Given the description of an element on the screen output the (x, y) to click on. 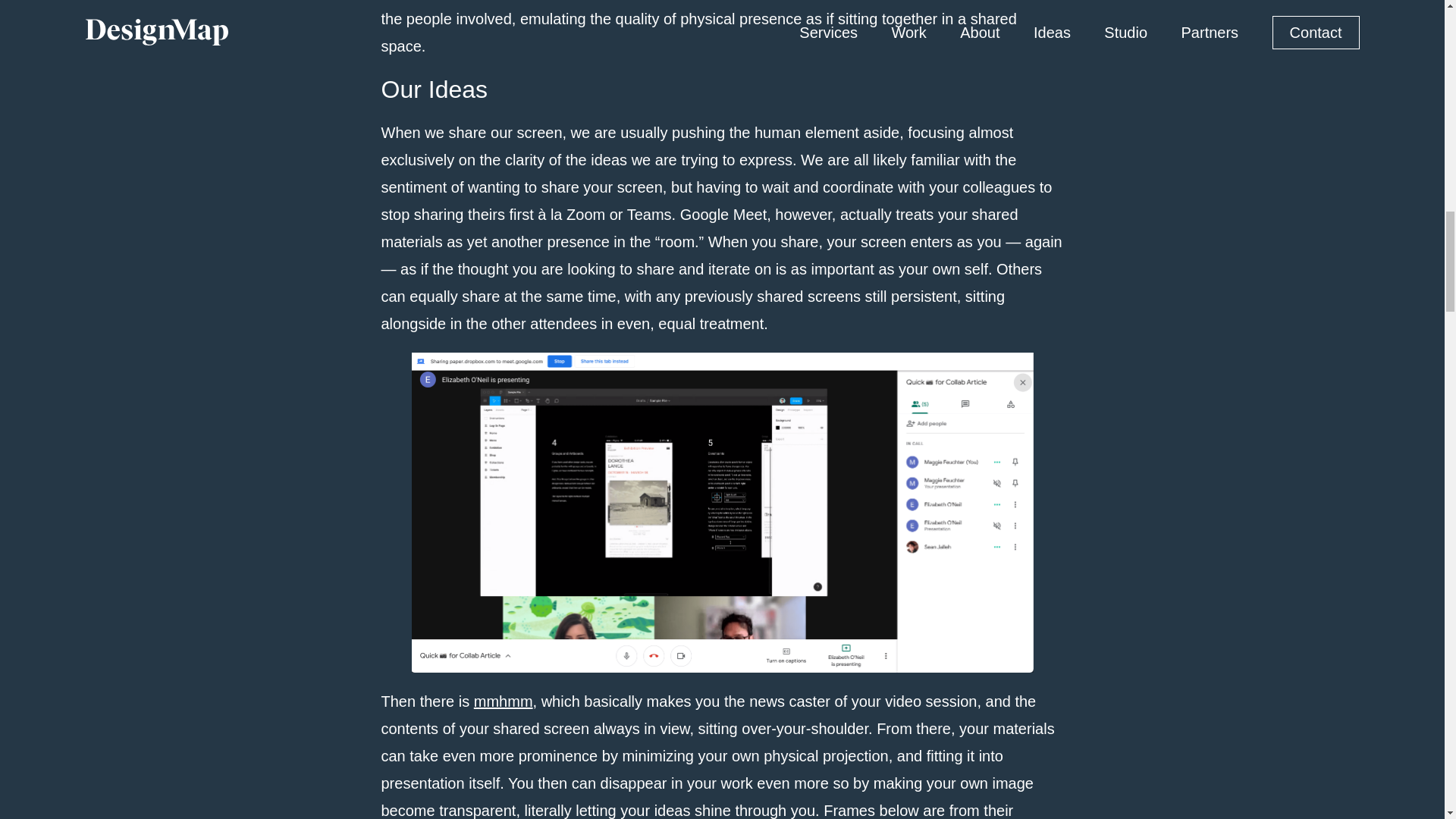
mmhmm (503, 701)
